Given the description of an element on the screen output the (x, y) to click on. 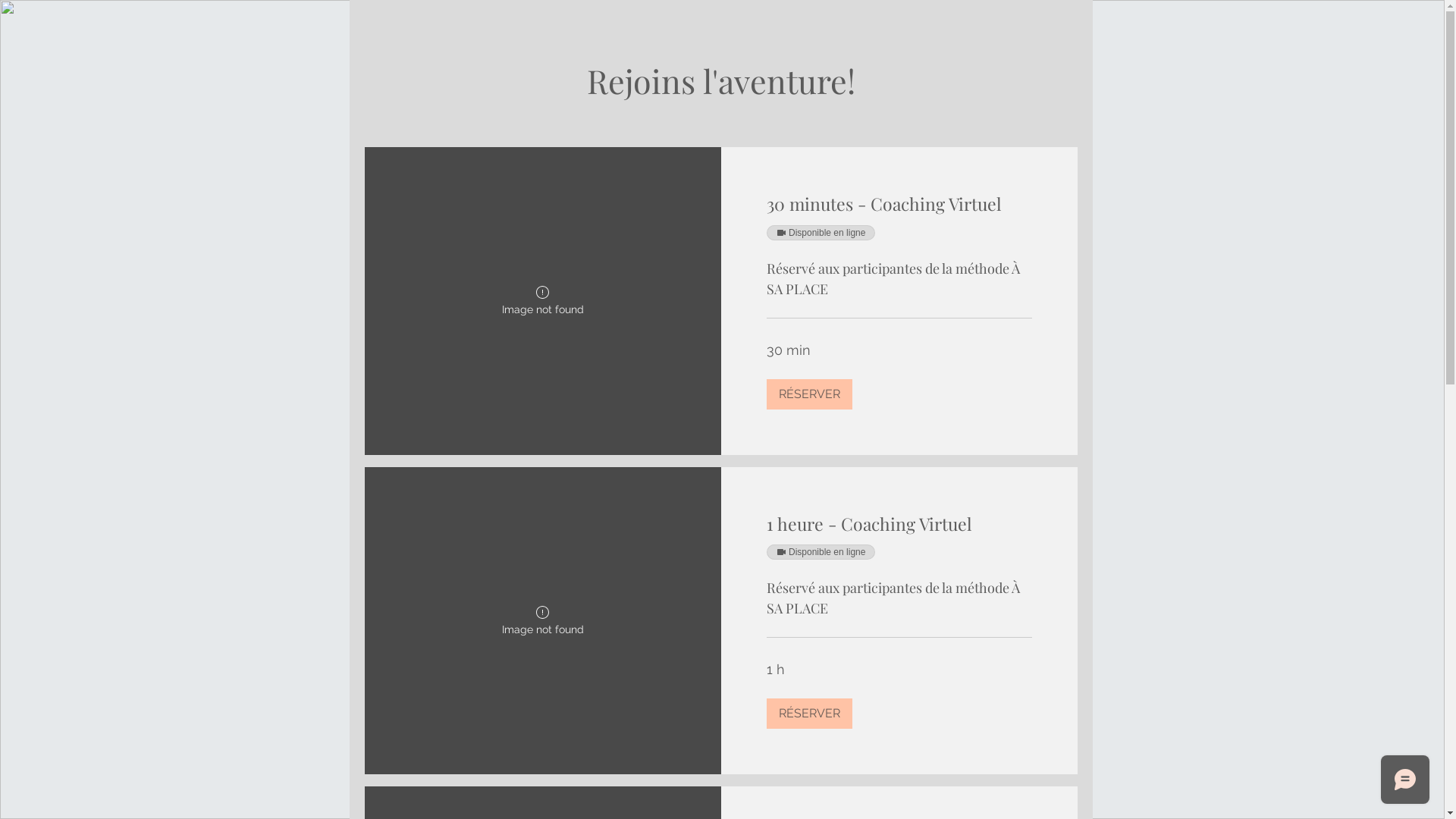
1 heure - Coaching Virtuel Element type: text (898, 523)
30 minutes - Coaching Virtuel Element type: text (898, 204)
